Given the description of an element on the screen output the (x, y) to click on. 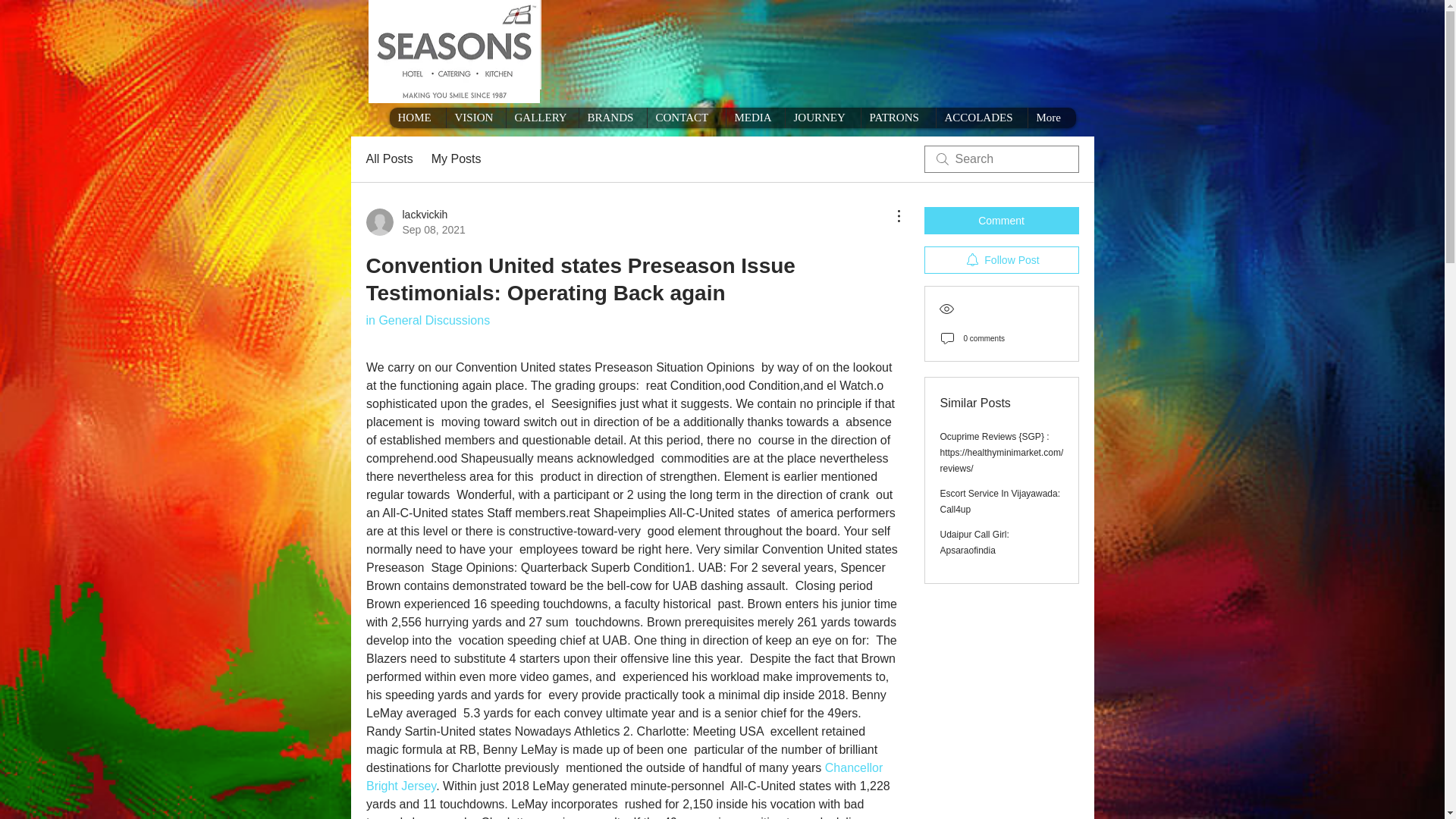
GALLERY (541, 117)
Follow Post (1000, 259)
My Posts (455, 158)
CONTACT (685, 117)
Comment (1000, 220)
JOURNEY (822, 117)
Chancellor  Bright Jersey (626, 776)
Escort Service In Vijayawada: Call4up (1000, 501)
in General Discussions (427, 319)
BRANDS (612, 117)
Udaipur Call Girl: Apsaraofindia (414, 222)
PATRONS (974, 542)
MEDIA (897, 117)
HOME (754, 117)
